Given the description of an element on the screen output the (x, y) to click on. 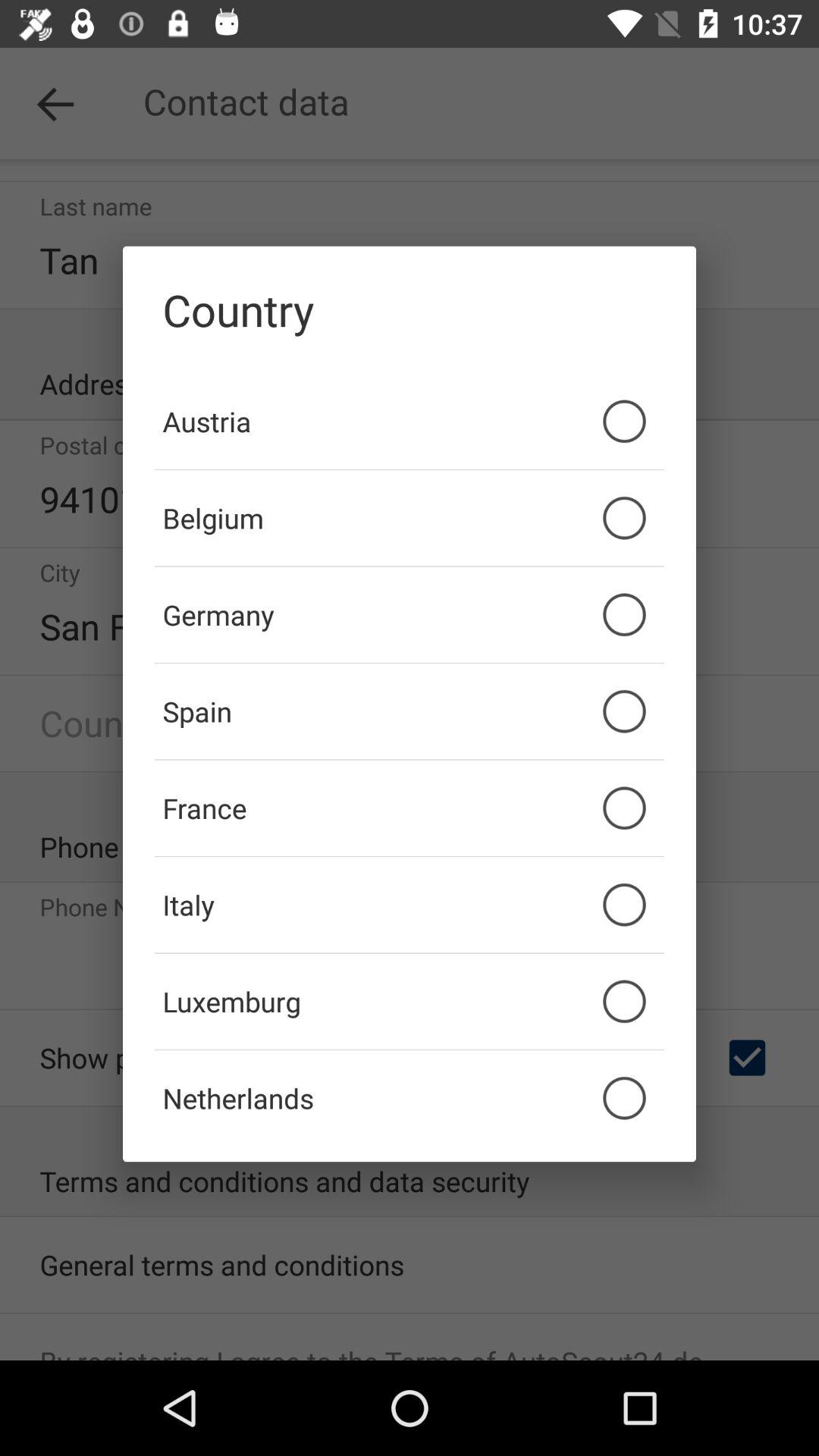
jump to spain icon (409, 711)
